Given the description of an element on the screen output the (x, y) to click on. 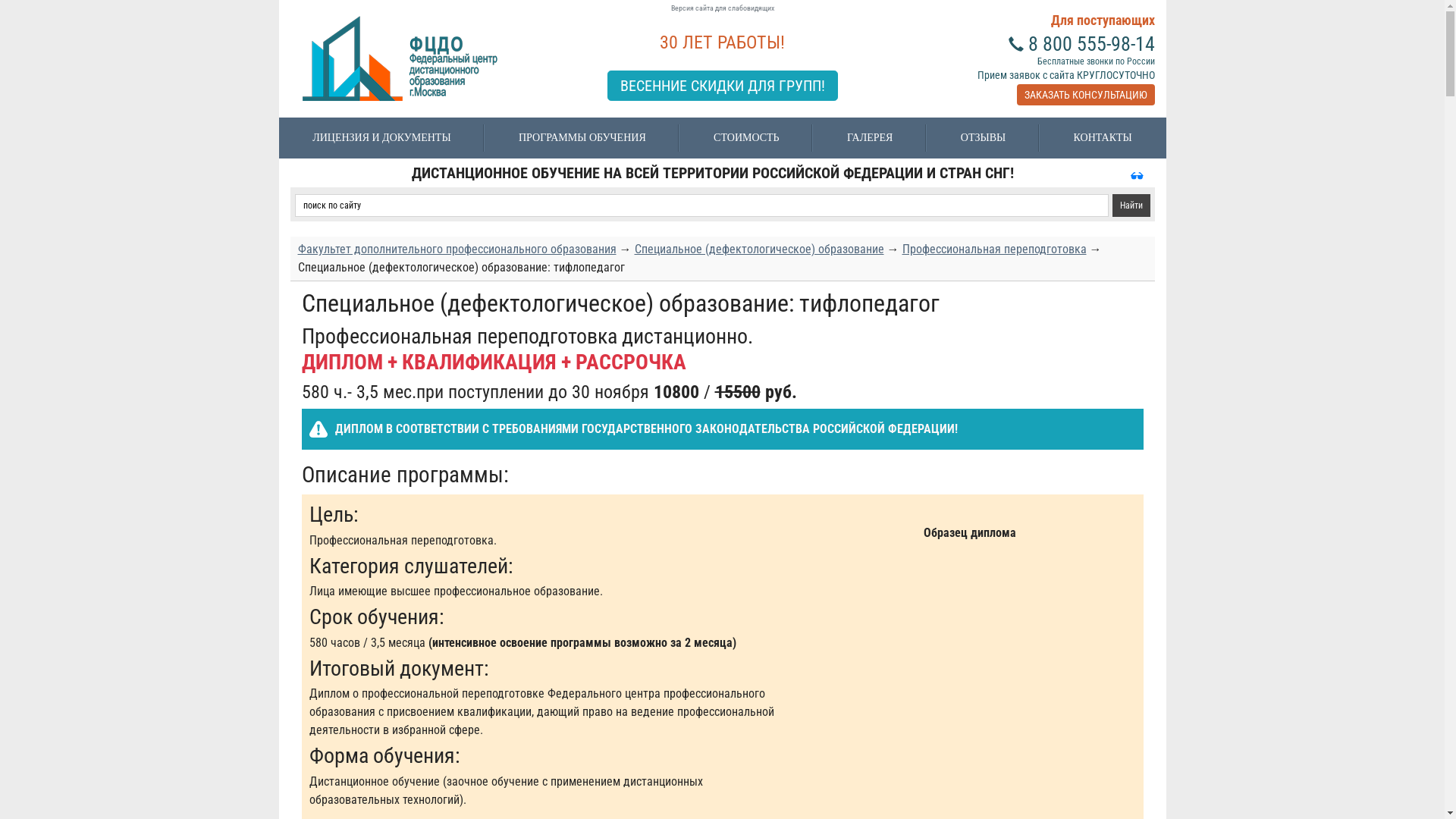
8 800 555-98-14 Element type: text (1091, 43)
